Given the description of an element on the screen output the (x, y) to click on. 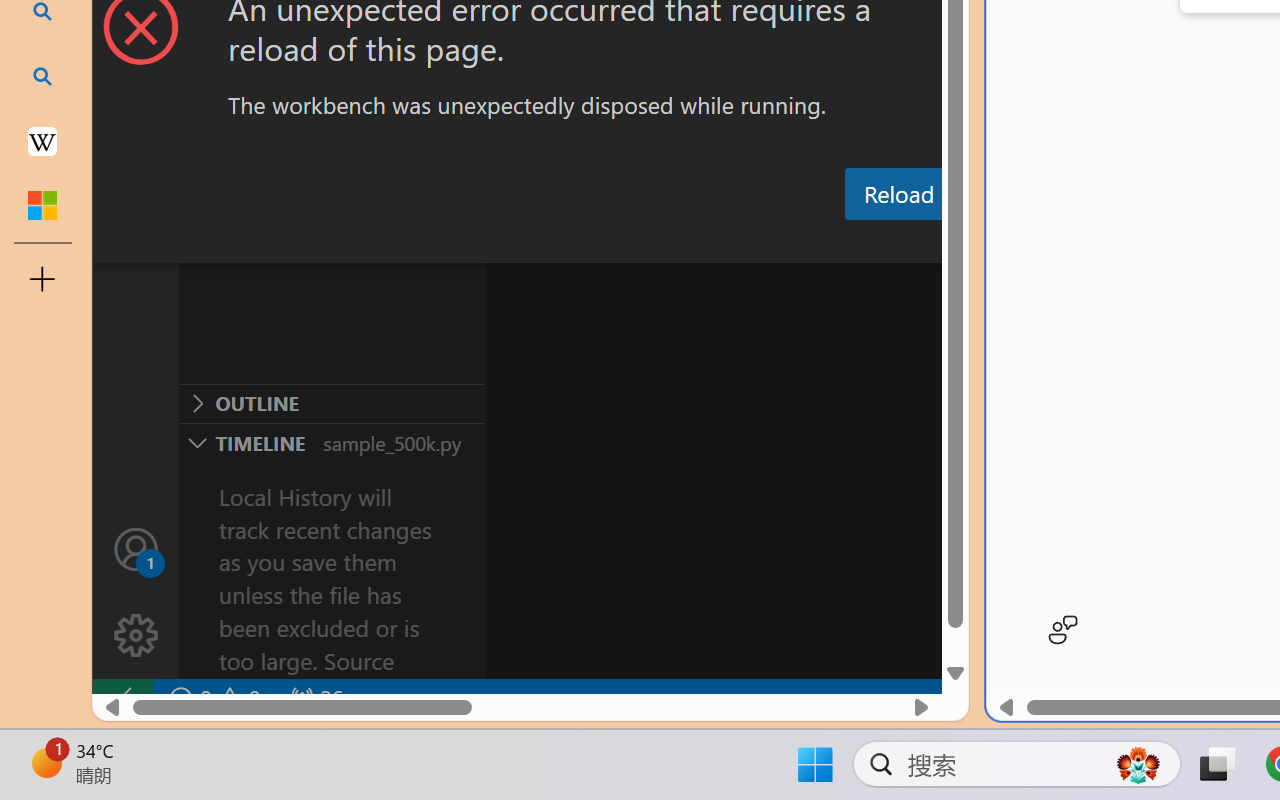
Accounts - Sign in requested (135, 548)
Reload (898, 193)
Problems (Ctrl+Shift+M) (567, 243)
Terminal (Ctrl+`) (1021, 243)
Manage (135, 635)
Outline Section (331, 403)
